Given the description of an element on the screen output the (x, y) to click on. 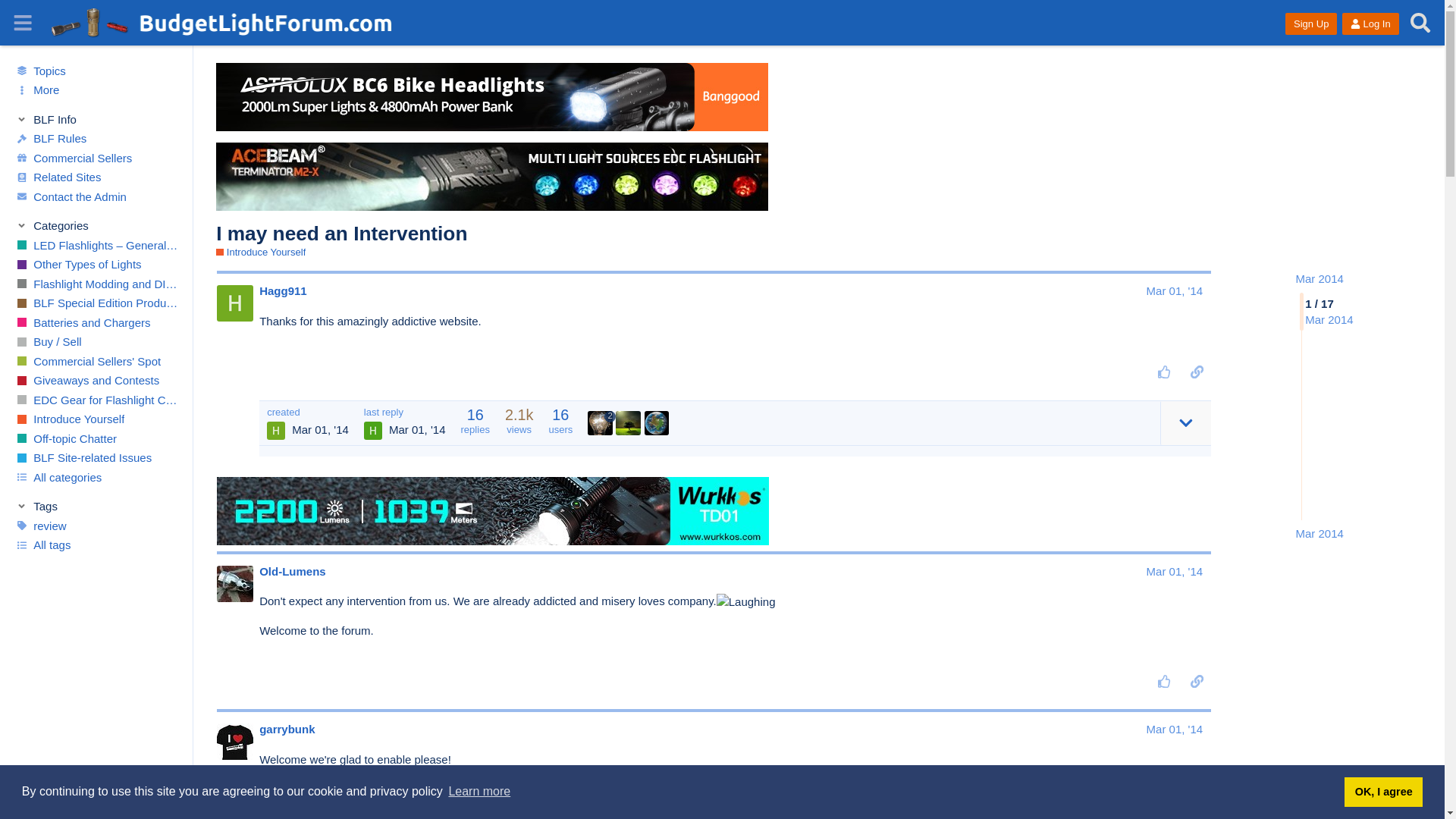
Contact the Admin (96, 196)
Sign Up (1310, 24)
Toggle section (96, 225)
I may need an Intervention (341, 232)
Giveaways and Contests (96, 380)
Tags (96, 506)
Toggle section (96, 118)
Learn more (478, 791)
Off-topic Chatter (96, 438)
Other Types of Lights (96, 264)
Log In (1369, 24)
More (96, 89)
All topics (96, 70)
Introduce Yourself (96, 419)
